Given the description of an element on the screen output the (x, y) to click on. 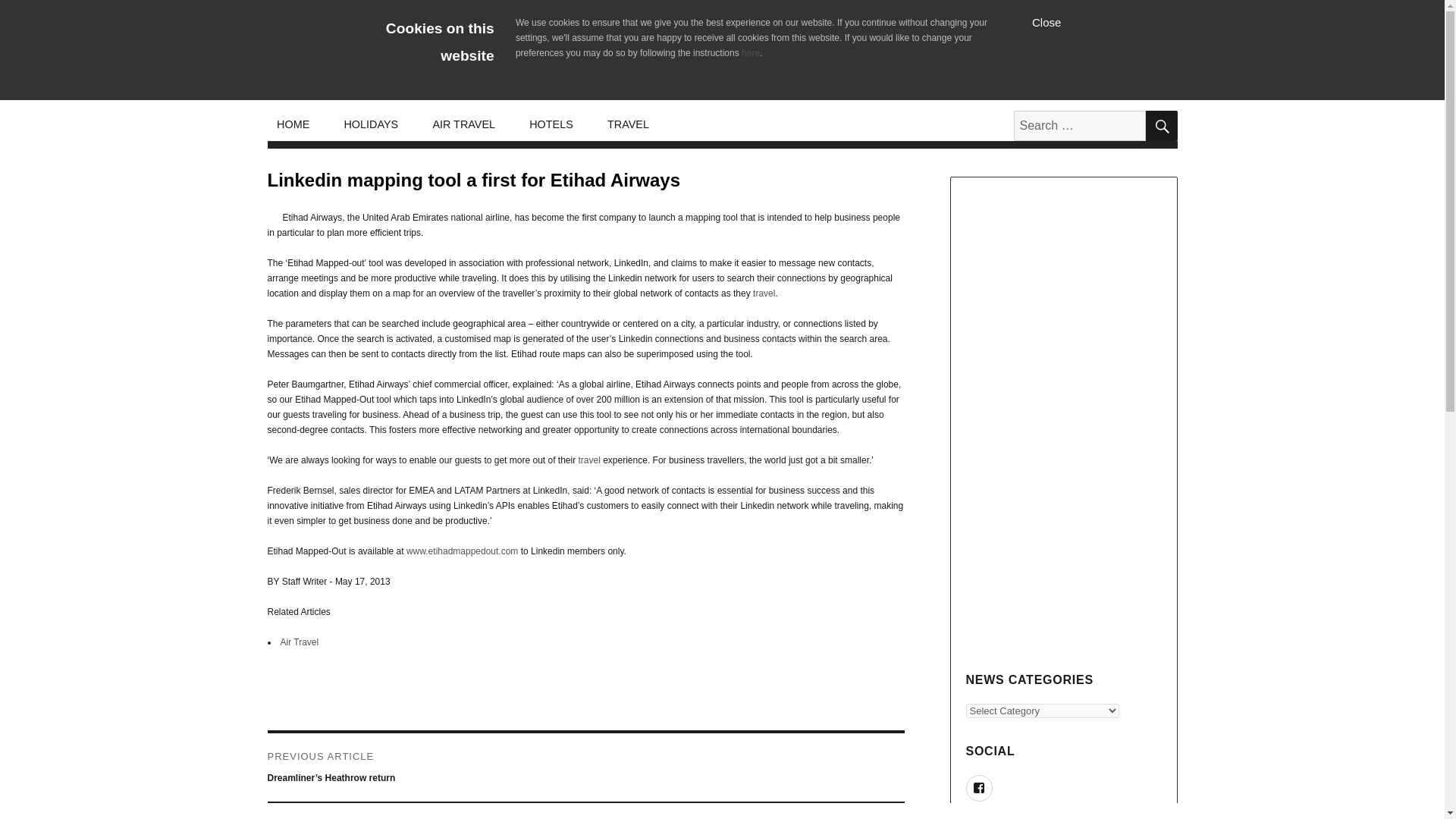
TRAVEL (627, 124)
SEARCH (1160, 125)
AIR TRAVEL (464, 124)
travel (588, 460)
Close (1046, 21)
FACEBOOK (979, 787)
HOLIDAYS (370, 124)
HOTELS (551, 124)
travel (763, 293)
HOME (292, 124)
